Given the description of an element on the screen output the (x, y) to click on. 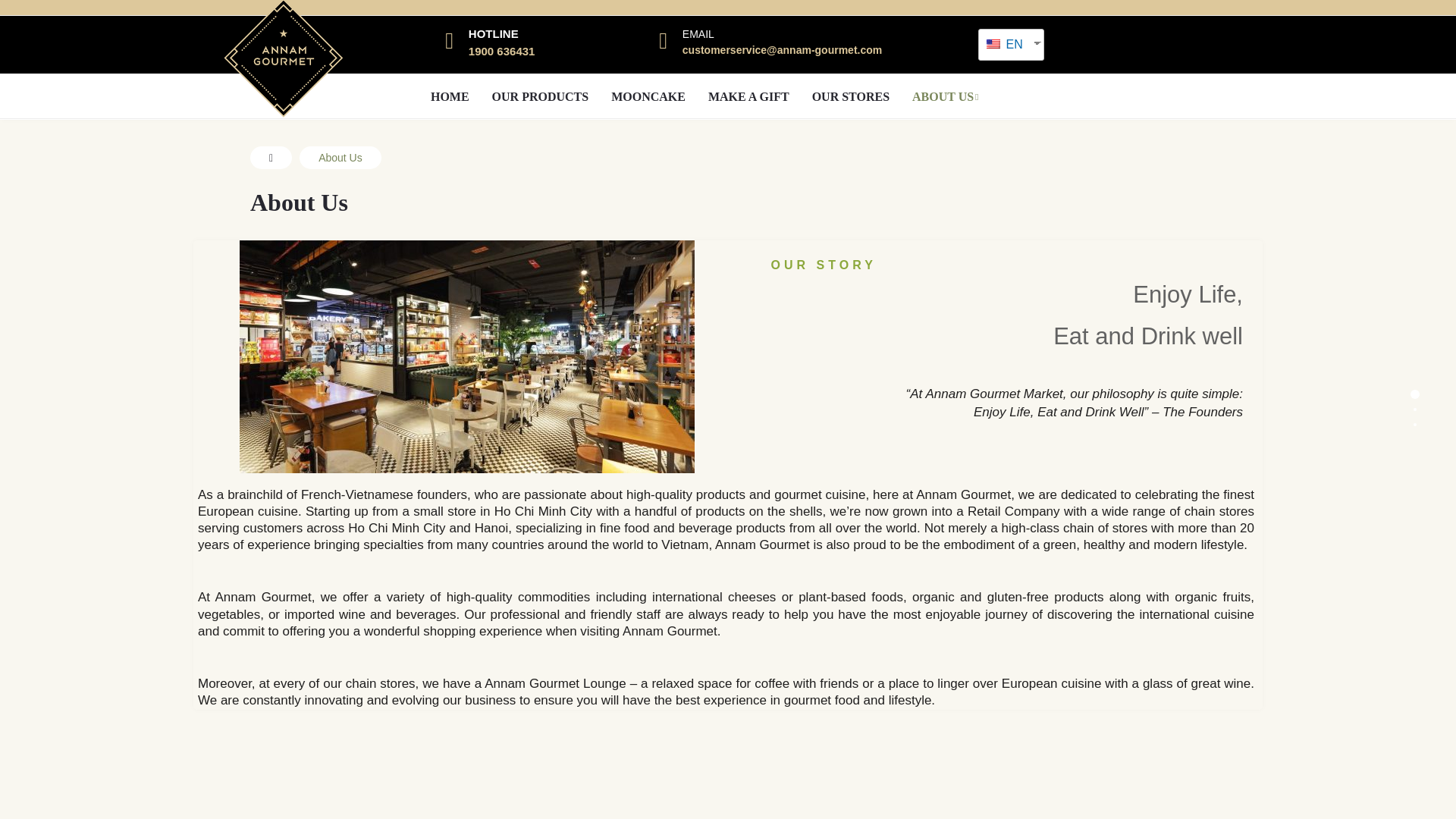
English (993, 43)
ABOUT US (945, 96)
EN (1004, 44)
HOME (449, 96)
OUR STORES (850, 96)
MOONCAKE (648, 96)
MAKE A GIFT (748, 96)
OUR PRODUCTS (539, 96)
English (1004, 44)
